Given the description of an element on the screen output the (x, y) to click on. 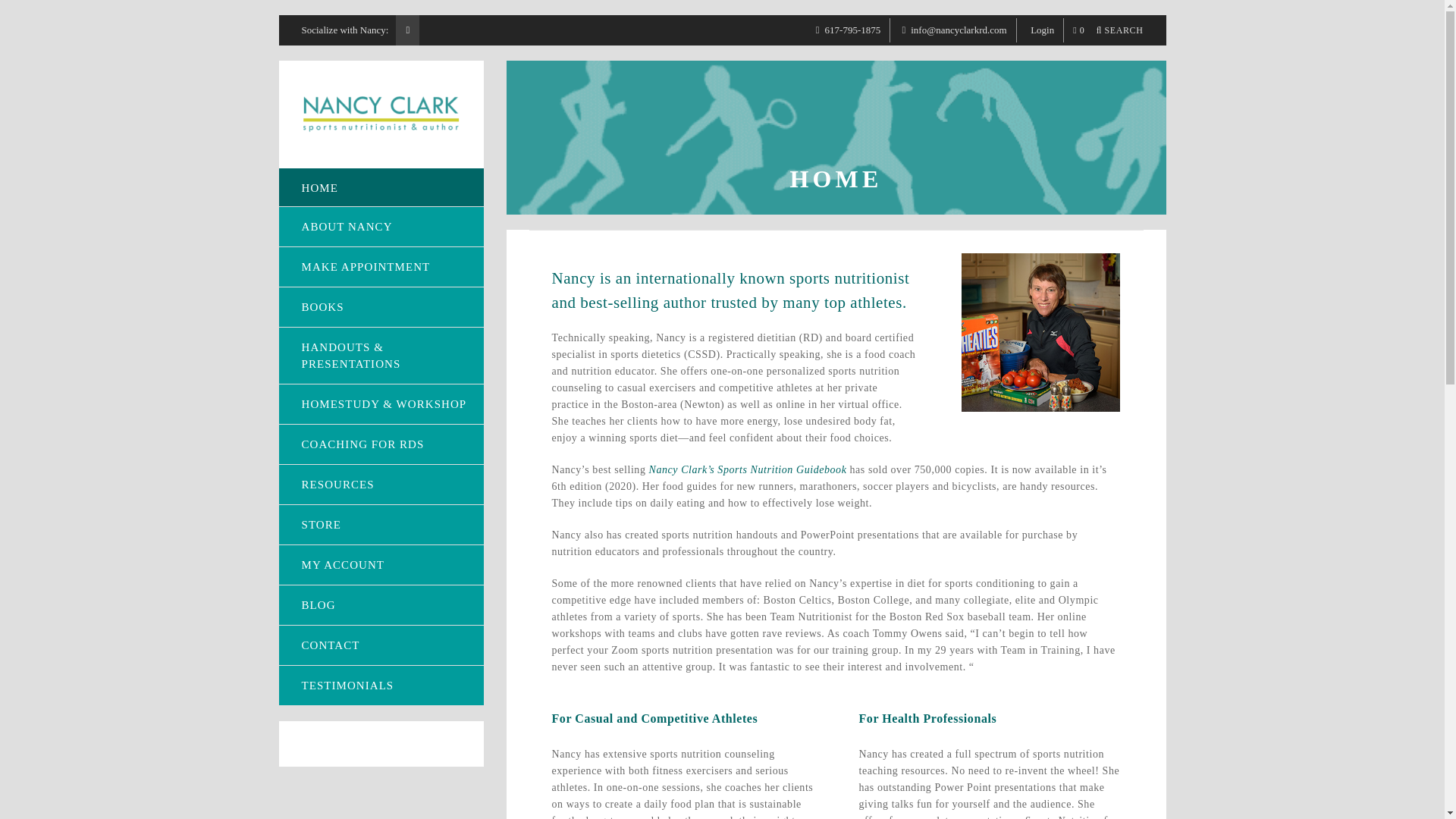
SEARCH (1114, 30)
COACHING FOR RDS (381, 444)
0 (1074, 30)
ABOUT NANCY (381, 226)
STORE (381, 524)
HOME (381, 187)
RESOURCES (381, 484)
TESTIMONIALS (381, 685)
MAKE APPOINTMENT (381, 266)
BLOG (381, 604)
